Given the description of an element on the screen output the (x, y) to click on. 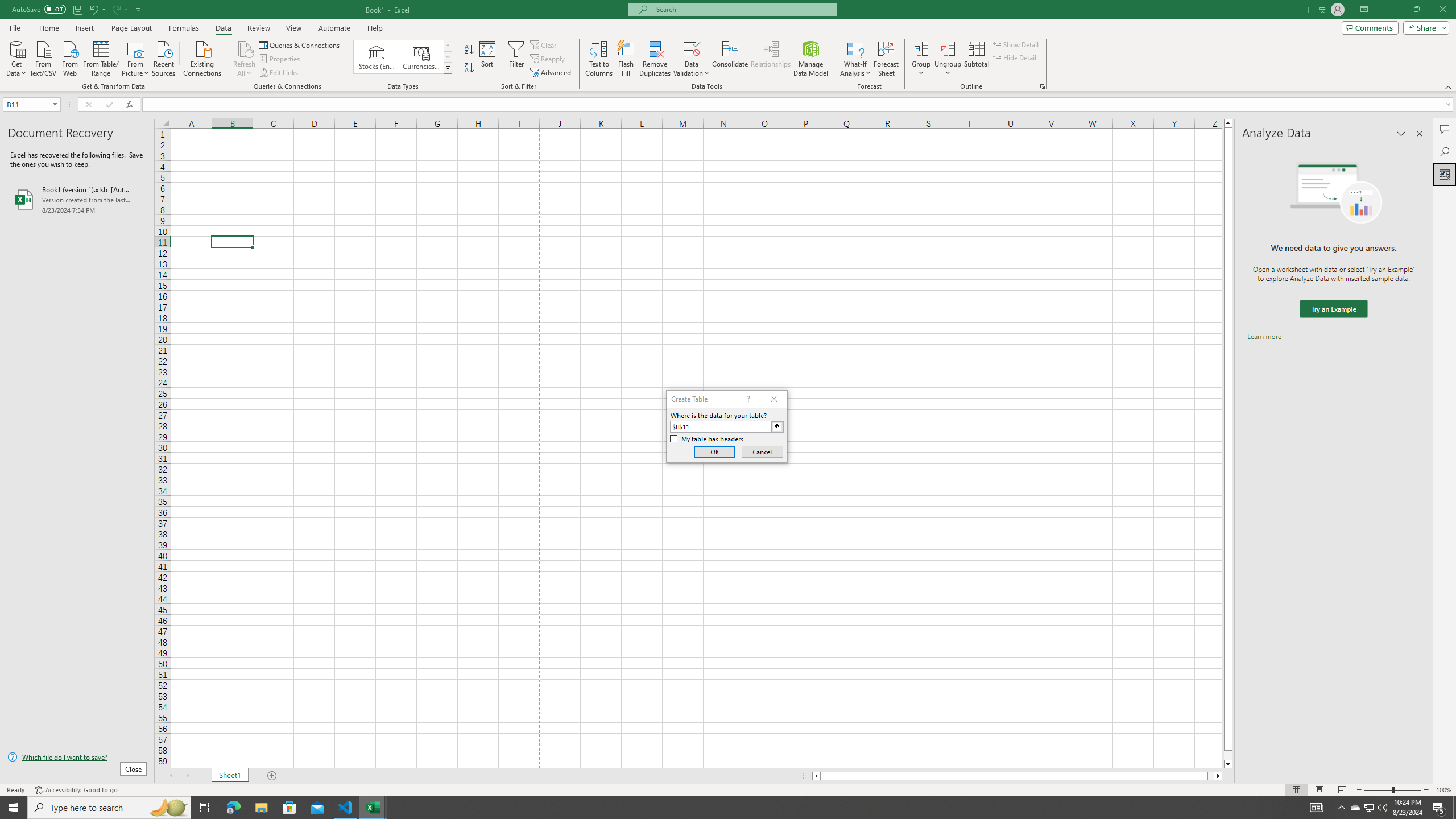
Remove Duplicates (654, 58)
Subtotal (976, 58)
Data Validation... (691, 58)
Which file do I want to save? (77, 757)
Data Types (448, 67)
Relationships (770, 58)
Name Box (30, 104)
Comments (1444, 128)
Class: NetUIImage (447, 68)
Column right (1218, 775)
Column left (815, 775)
Restore Down (1416, 9)
Review (258, 28)
Sort... (487, 58)
Collapse the Ribbon (1448, 86)
